Given the description of an element on the screen output the (x, y) to click on. 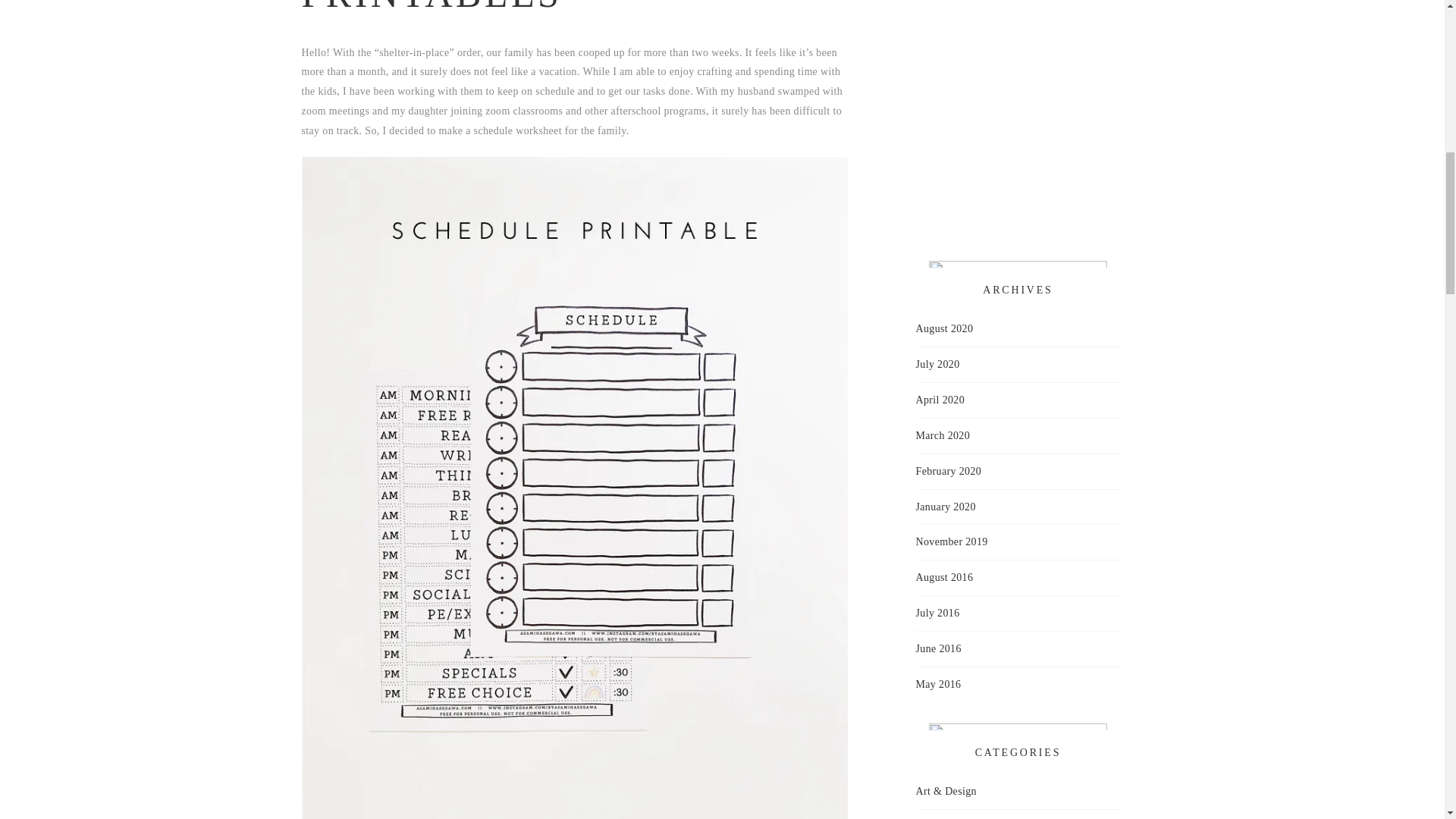
April 2020 (940, 400)
July 2020 (937, 364)
August 2020 (944, 329)
